Given the description of an element on the screen output the (x, y) to click on. 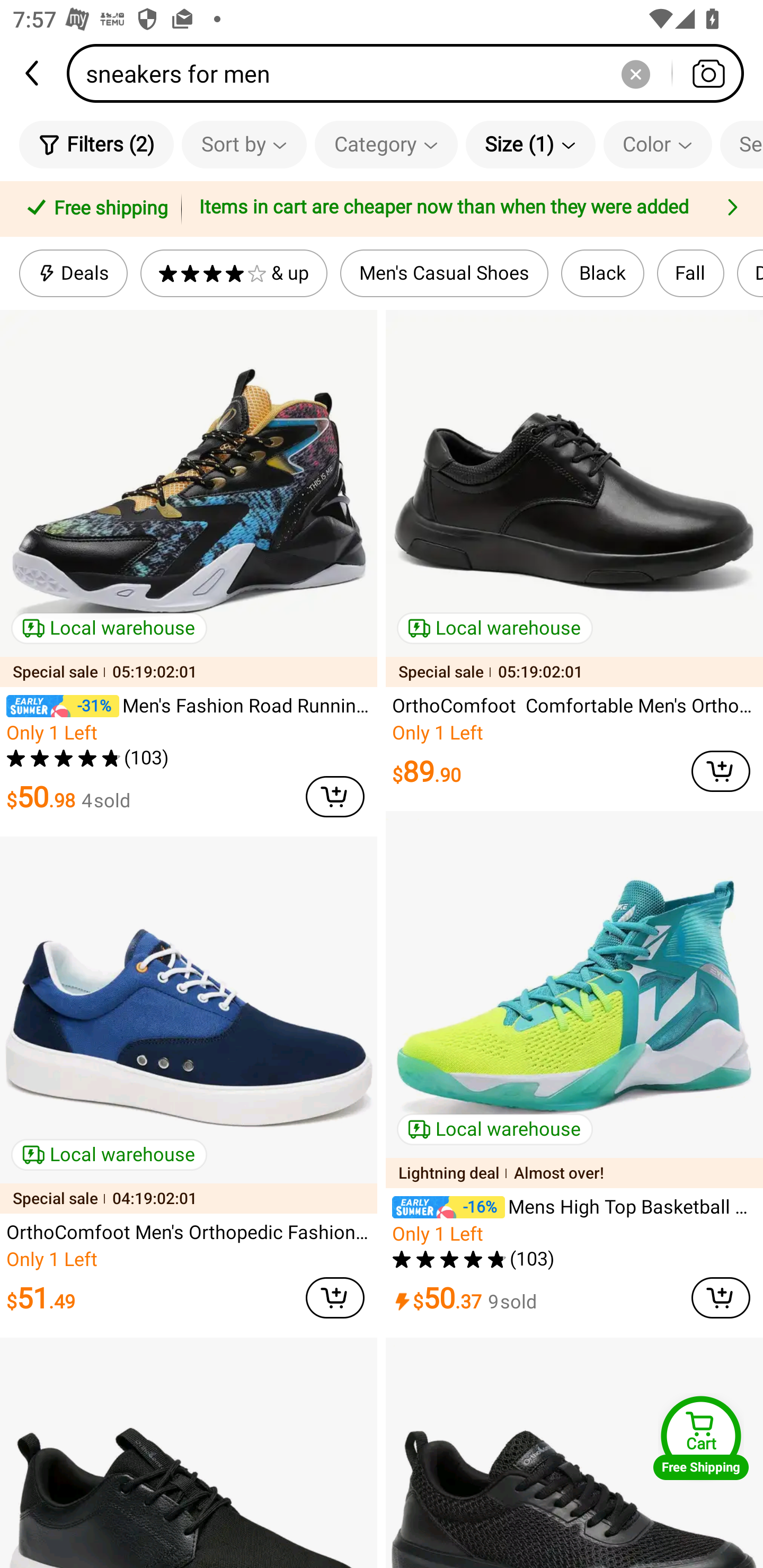
back (33, 72)
sneakers for men (411, 73)
Delete search history (635, 73)
Search by photo (708, 73)
Filters (2) (96, 143)
Sort by (243, 143)
Category (385, 143)
Size (1) (530, 143)
Color (657, 143)
 Free shipping (93, 208)
Deals (73, 273)
& up (233, 273)
Men's Casual Shoes (444, 273)
Black (601, 273)
Fall (690, 273)
Cart Free Shipping Cart (701, 1437)
